Given the description of an element on the screen output the (x, y) to click on. 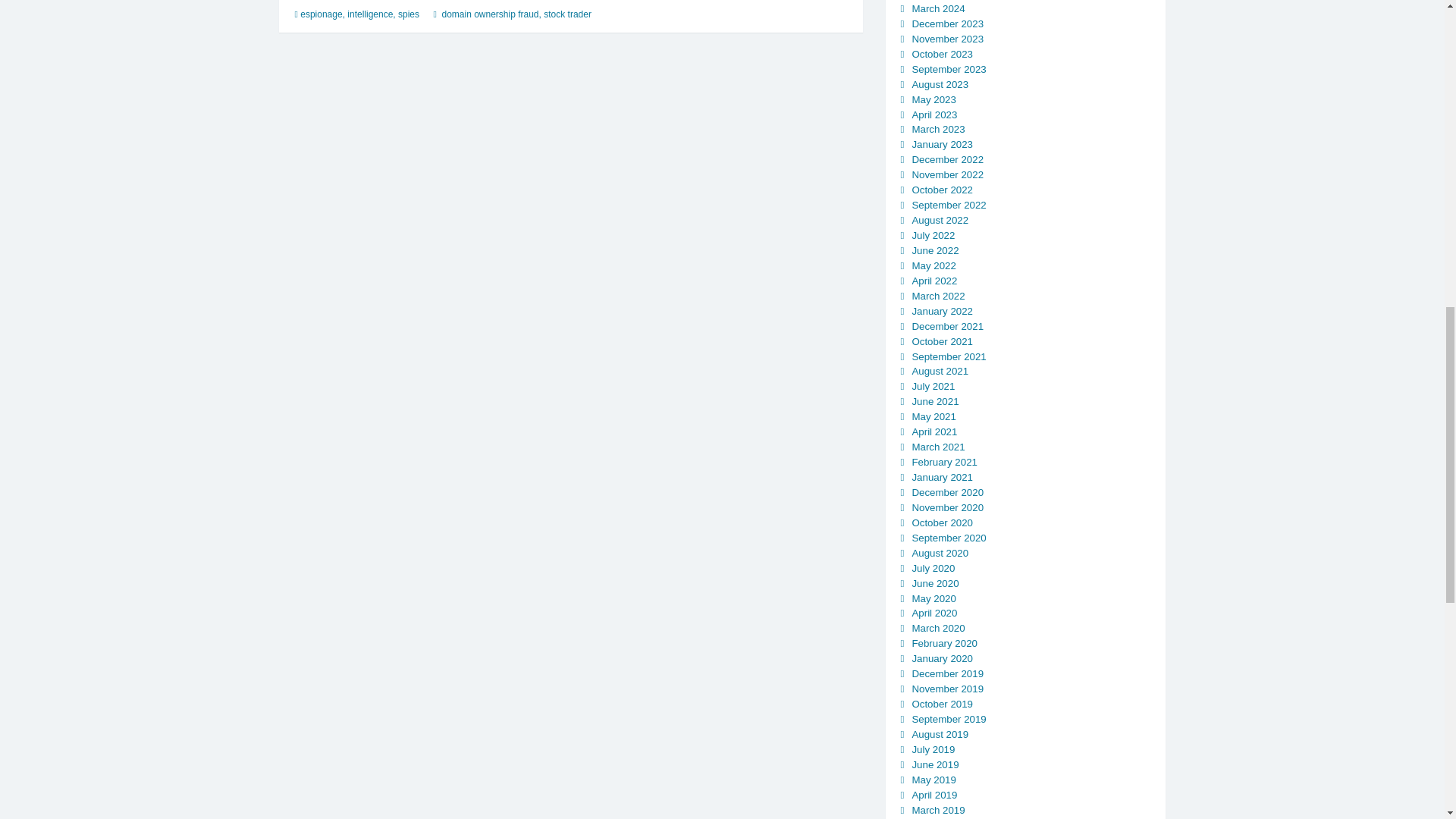
stock trader (567, 14)
September 2023 (948, 69)
October 2022 (941, 189)
January 2023 (941, 143)
April 2023 (933, 114)
domain ownership fraud (489, 14)
October 2023 (941, 53)
November 2023 (947, 39)
intelligence (370, 14)
August 2023 (939, 84)
